Given the description of an element on the screen output the (x, y) to click on. 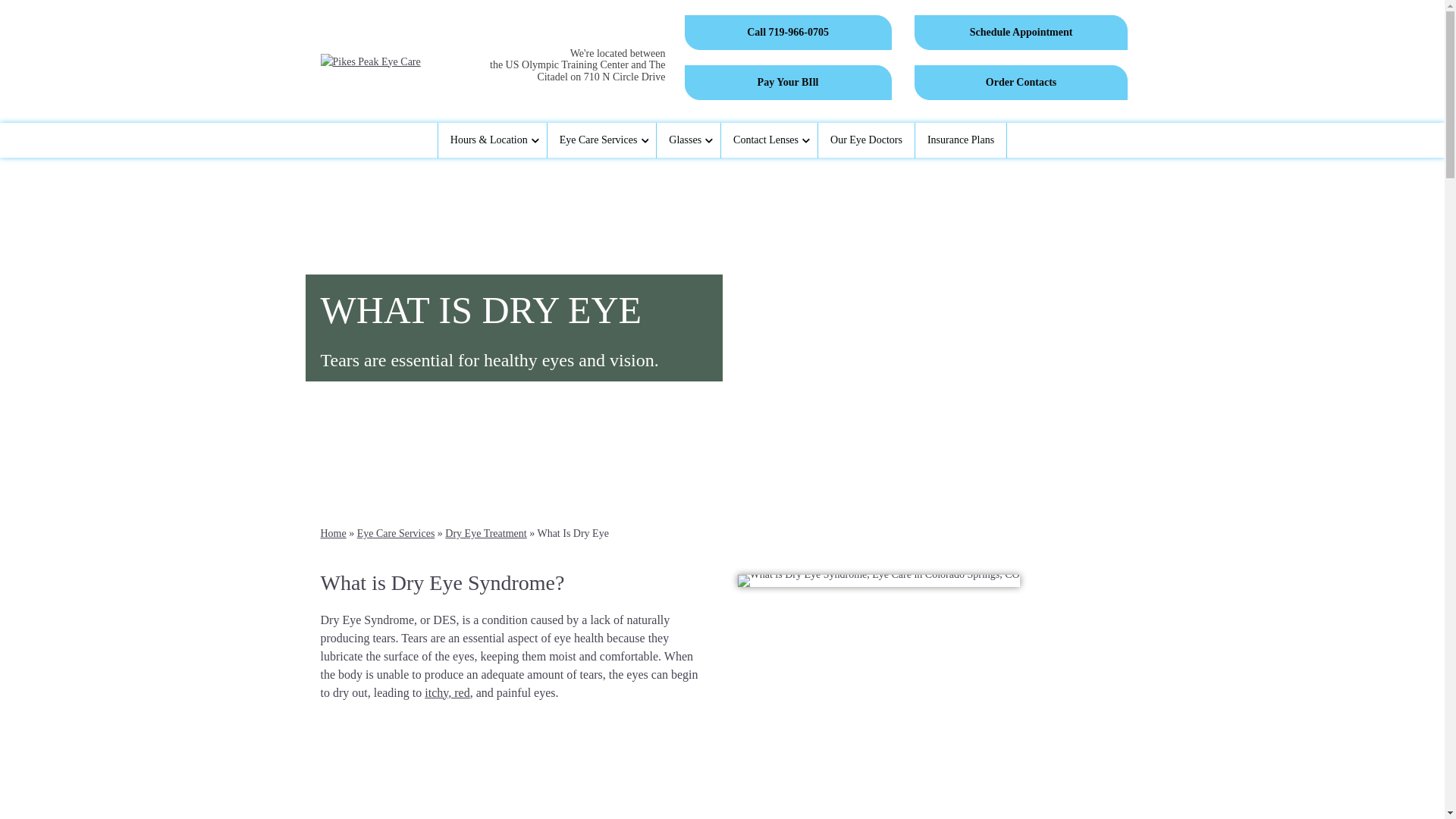
Glasses (688, 140)
Schedule Appointment (1021, 32)
YouTube video player (513, 768)
Contact Lenses (768, 140)
Our Eye Doctors (866, 140)
Order Contacts (1021, 82)
Pay Your BIll (787, 82)
Call 719-966-0705 (787, 32)
Insurance Plans (960, 140)
Eye Care Services (601, 140)
